Given the description of an element on the screen output the (x, y) to click on. 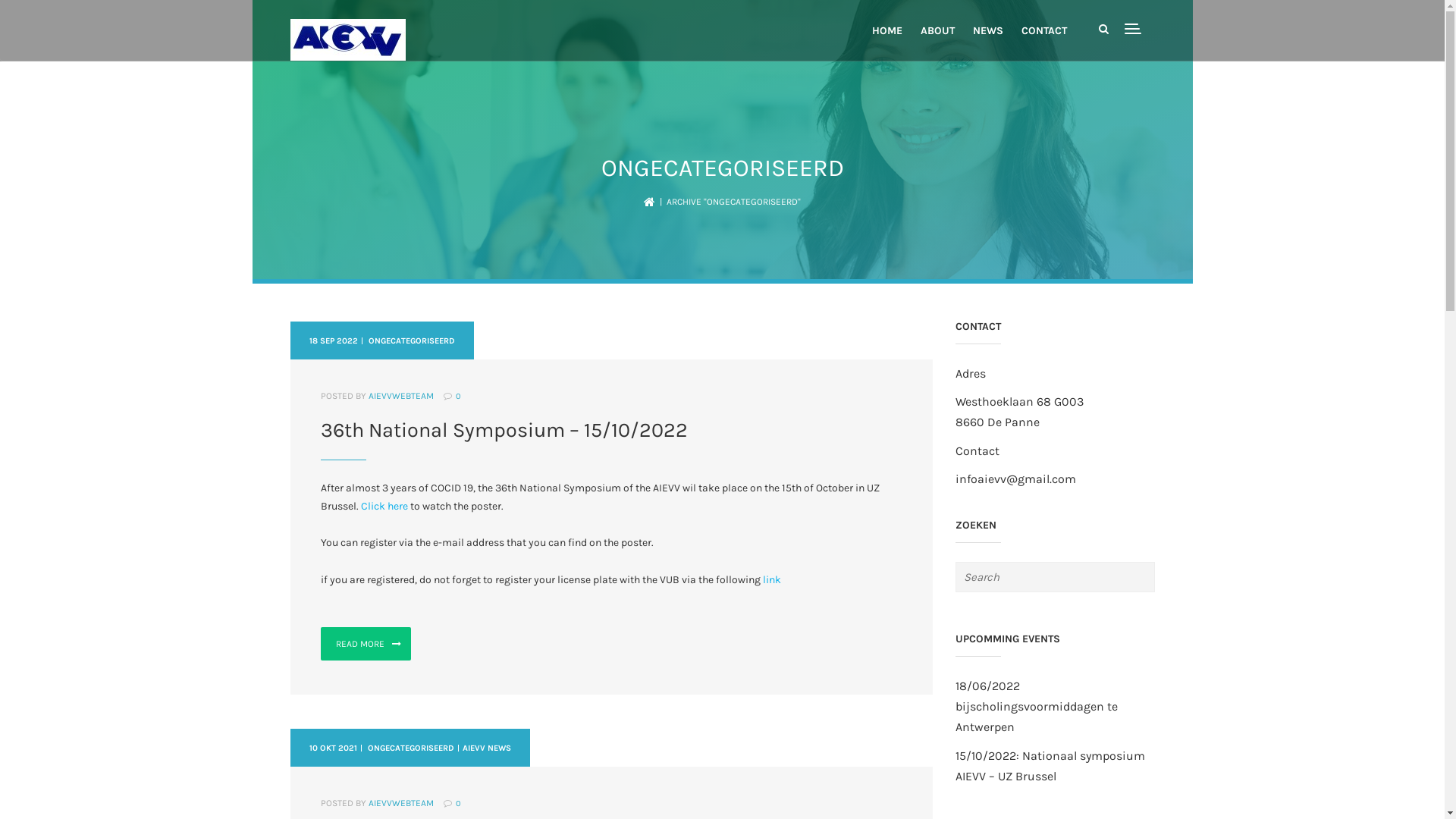
HOME Element type: text (887, 31)
CONTACT Element type: text (1043, 31)
READ MORE Element type: text (365, 643)
18 SEP 2022 Element type: text (332, 340)
ABOUT Element type: text (937, 31)
0 Element type: text (457, 395)
link  Element type: text (772, 579)
10 OKT 2021 Element type: text (332, 747)
NEWS Element type: text (987, 31)
AIEVVWEBTEAM Element type: text (400, 395)
0 Element type: text (457, 802)
ONGECATEGORISEERD Element type: text (411, 747)
AIEVV NEWS Element type: text (486, 747)
Click here Element type: text (383, 505)
AIEVVWEBTEAM Element type: text (400, 802)
ONGECATEGORISEERD Element type: text (411, 340)
